Given the description of an element on the screen output the (x, y) to click on. 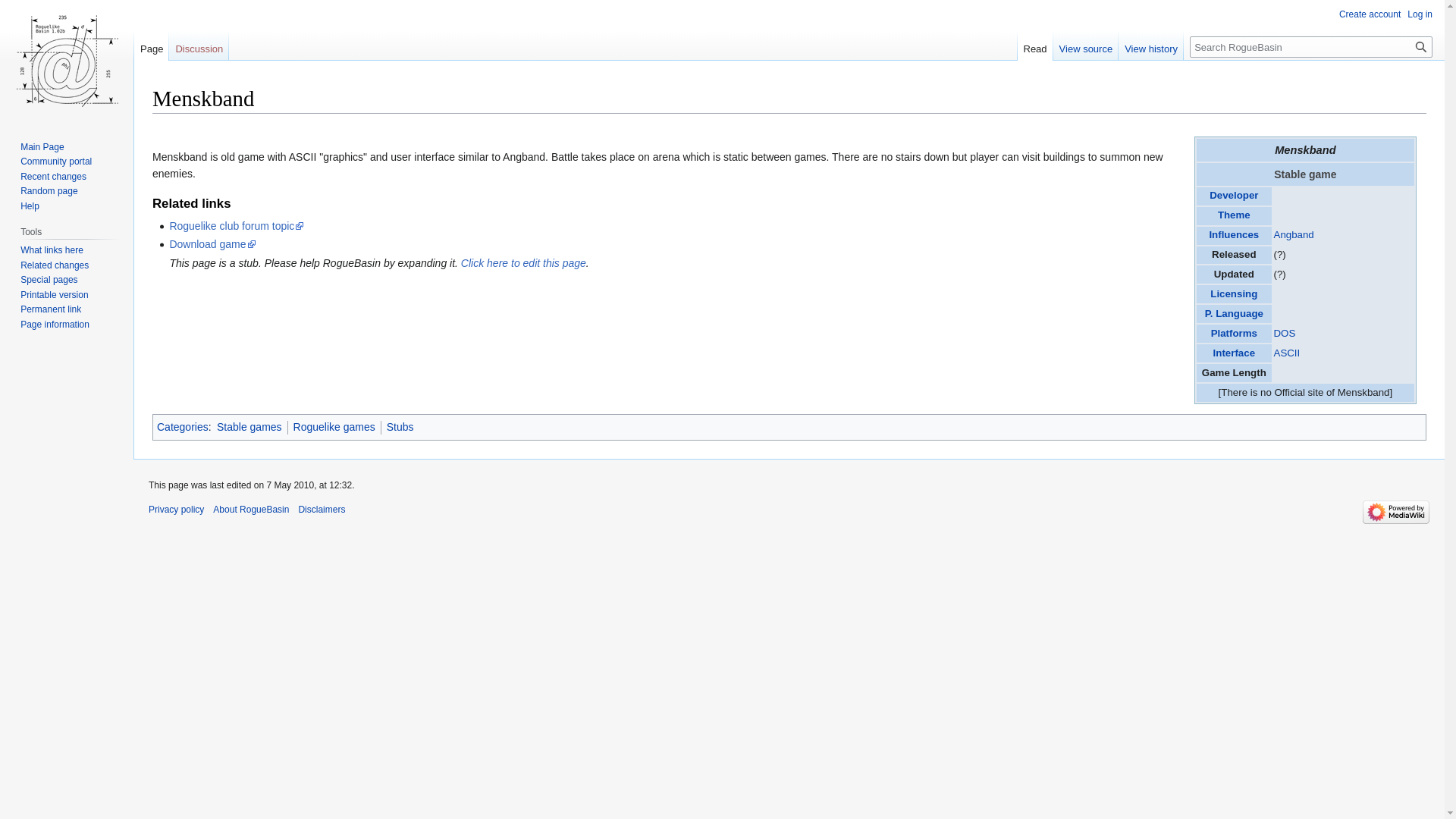
Roguelike games (334, 426)
Category:Roguelike games (334, 426)
ASCII (1287, 352)
Stable games (249, 426)
Angband (1294, 234)
Page (150, 45)
Platforms (1234, 333)
Roguelike club forum topic (236, 225)
View history (1150, 45)
Related changes (54, 265)
Help (29, 205)
Main Page (42, 146)
Special:Categories (182, 426)
Random page (48, 190)
P. Language (1234, 313)
